Given the description of an element on the screen output the (x, y) to click on. 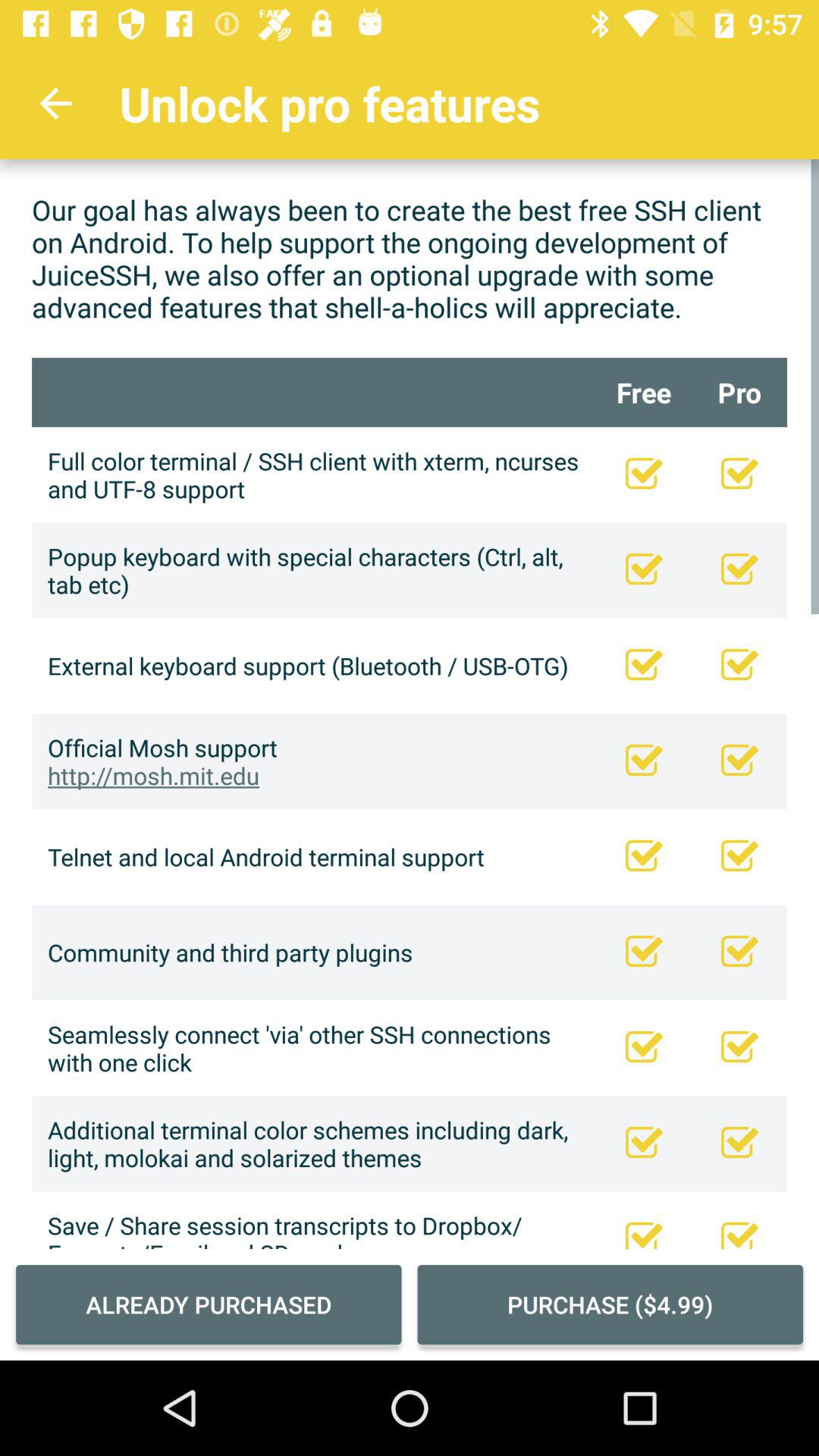
select the icon next to already purchased item (610, 1304)
